Given the description of an element on the screen output the (x, y) to click on. 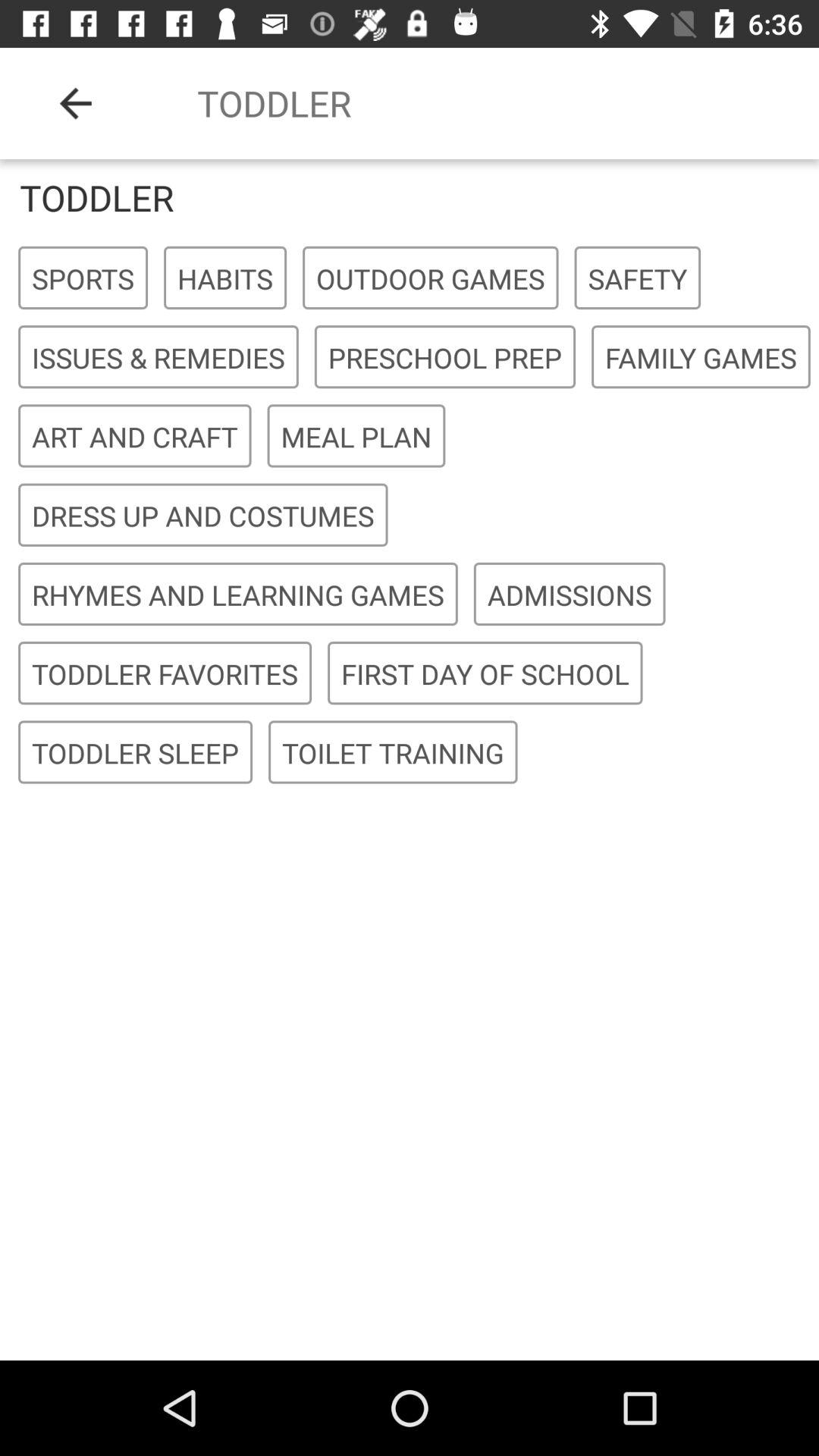
flip to the preschool prep (444, 357)
